Given the description of an element on the screen output the (x, y) to click on. 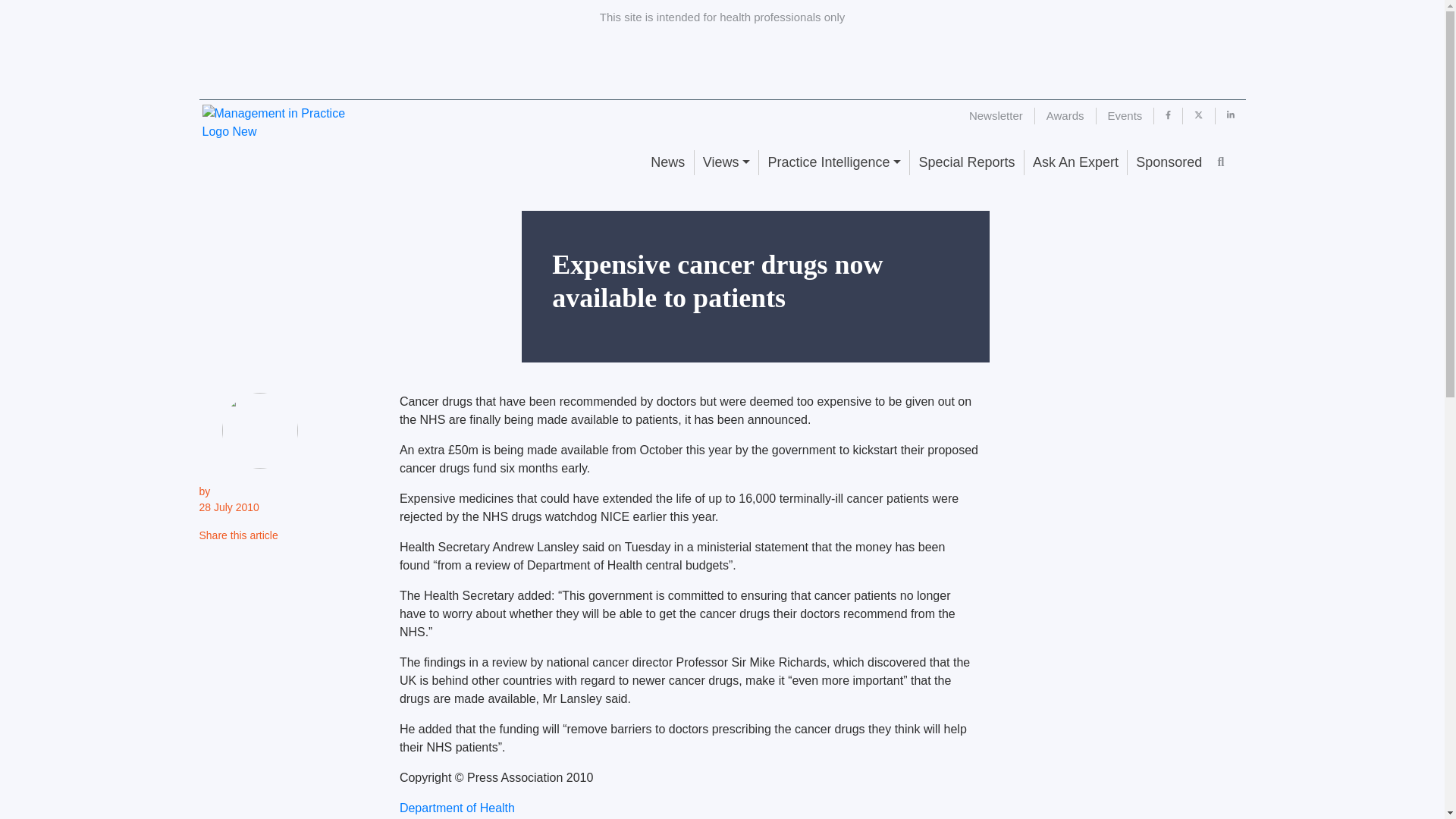
Special Reports (966, 162)
Events (1125, 115)
Awards (1065, 115)
Ask An Expert (1075, 162)
News (667, 162)
Practice Intelligence (833, 162)
Sponsored (1167, 162)
Views (726, 162)
Newsletter (996, 115)
